Given the description of an element on the screen output the (x, y) to click on. 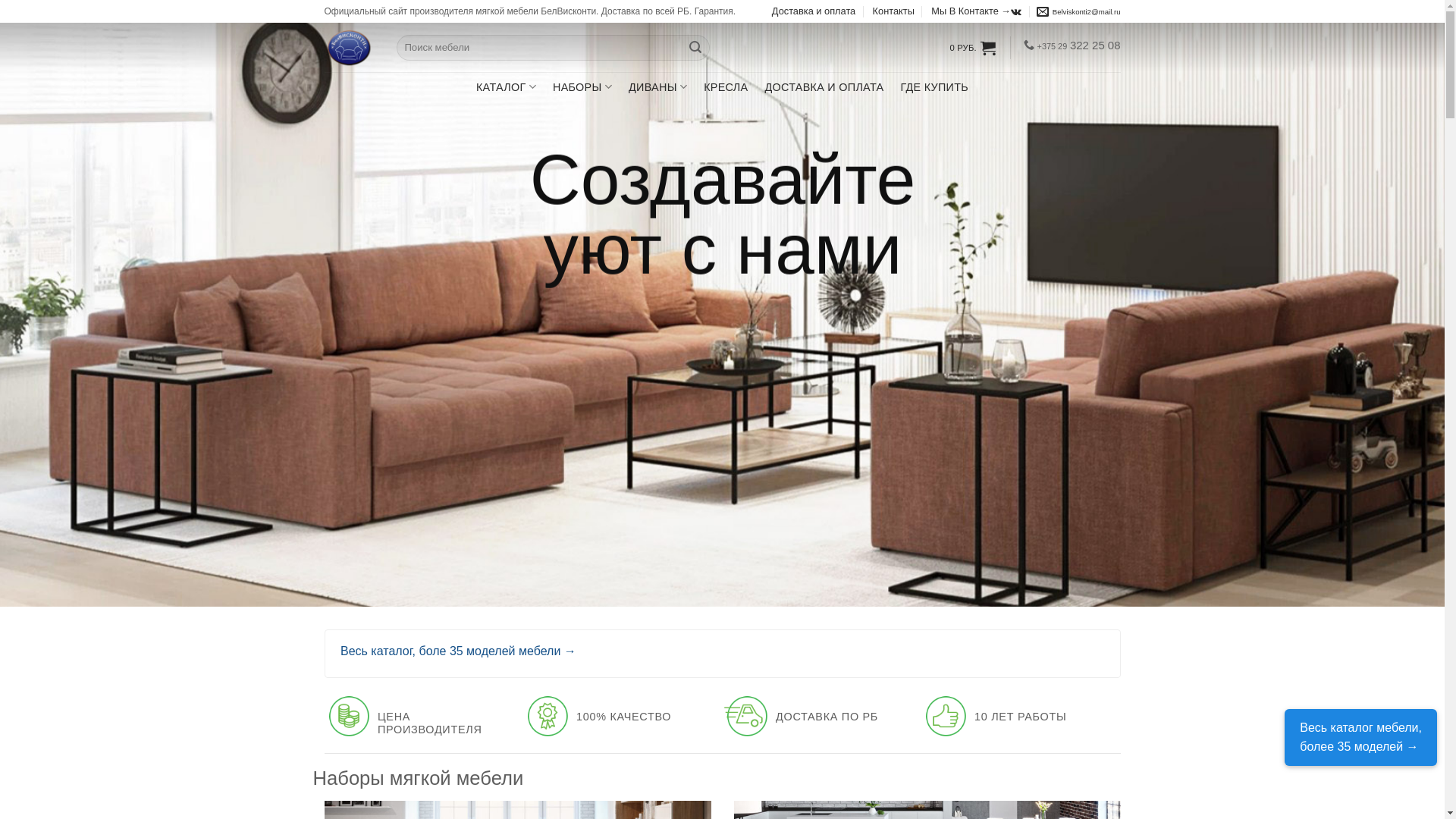
Belviskonti2@mail.ru Element type: text (1078, 11)
